Given the description of an element on the screen output the (x, y) to click on. 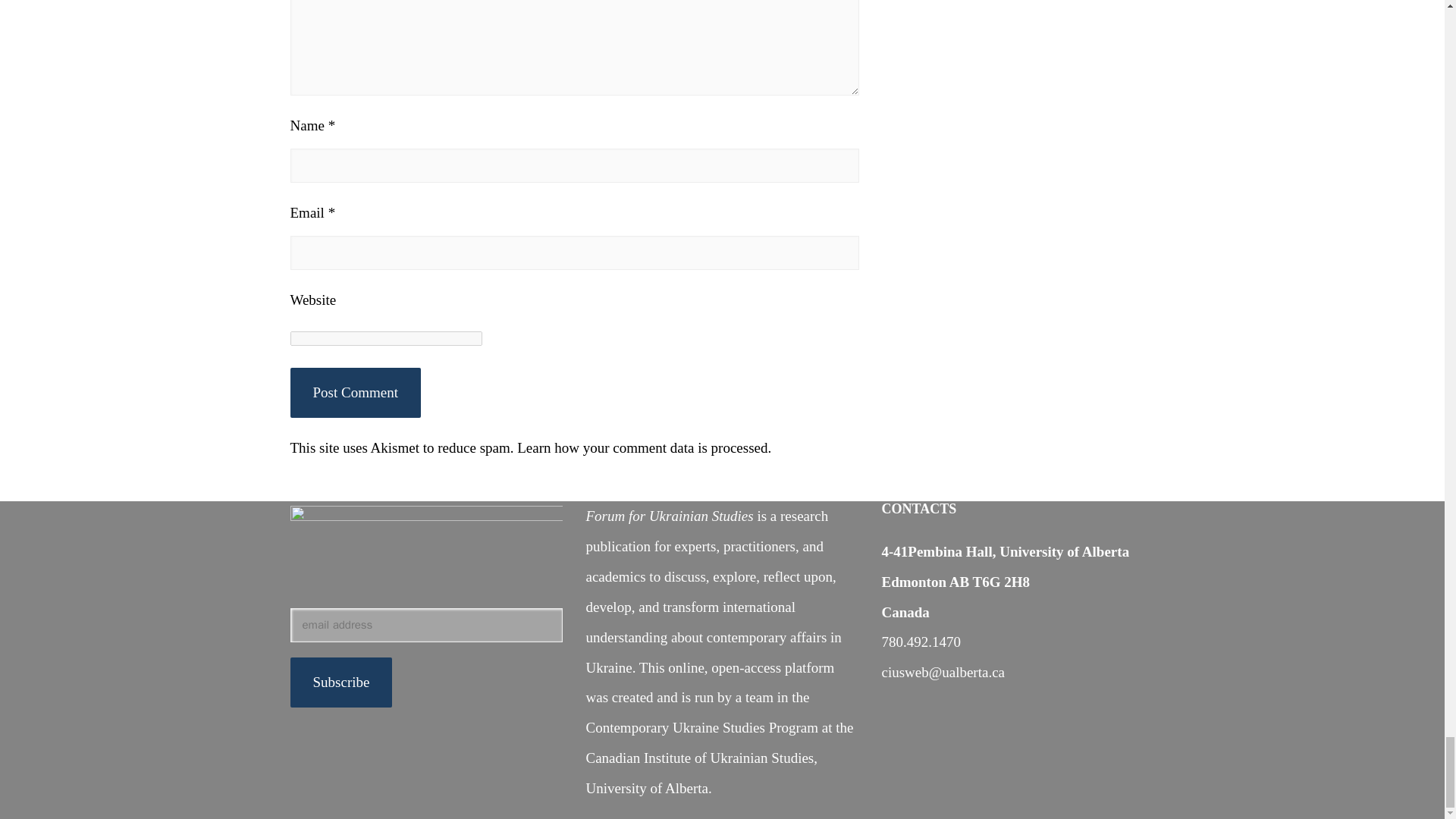
Post Comment (354, 392)
Subscribe (340, 682)
